Given the description of an element on the screen output the (x, y) to click on. 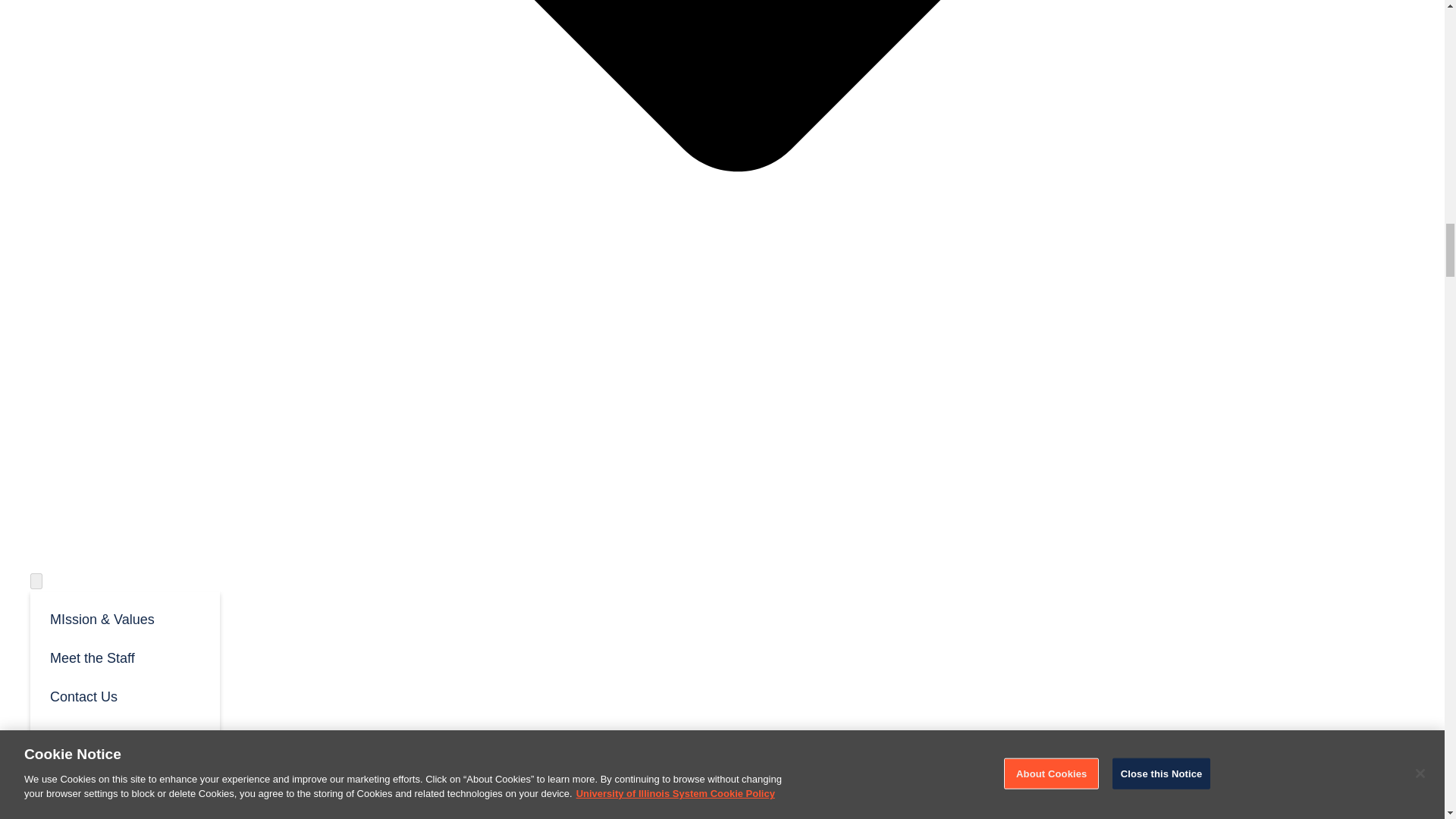
Contact Us (125, 695)
Get Involved (68, 745)
Meet the Staff (125, 657)
